Given the description of an element on the screen output the (x, y) to click on. 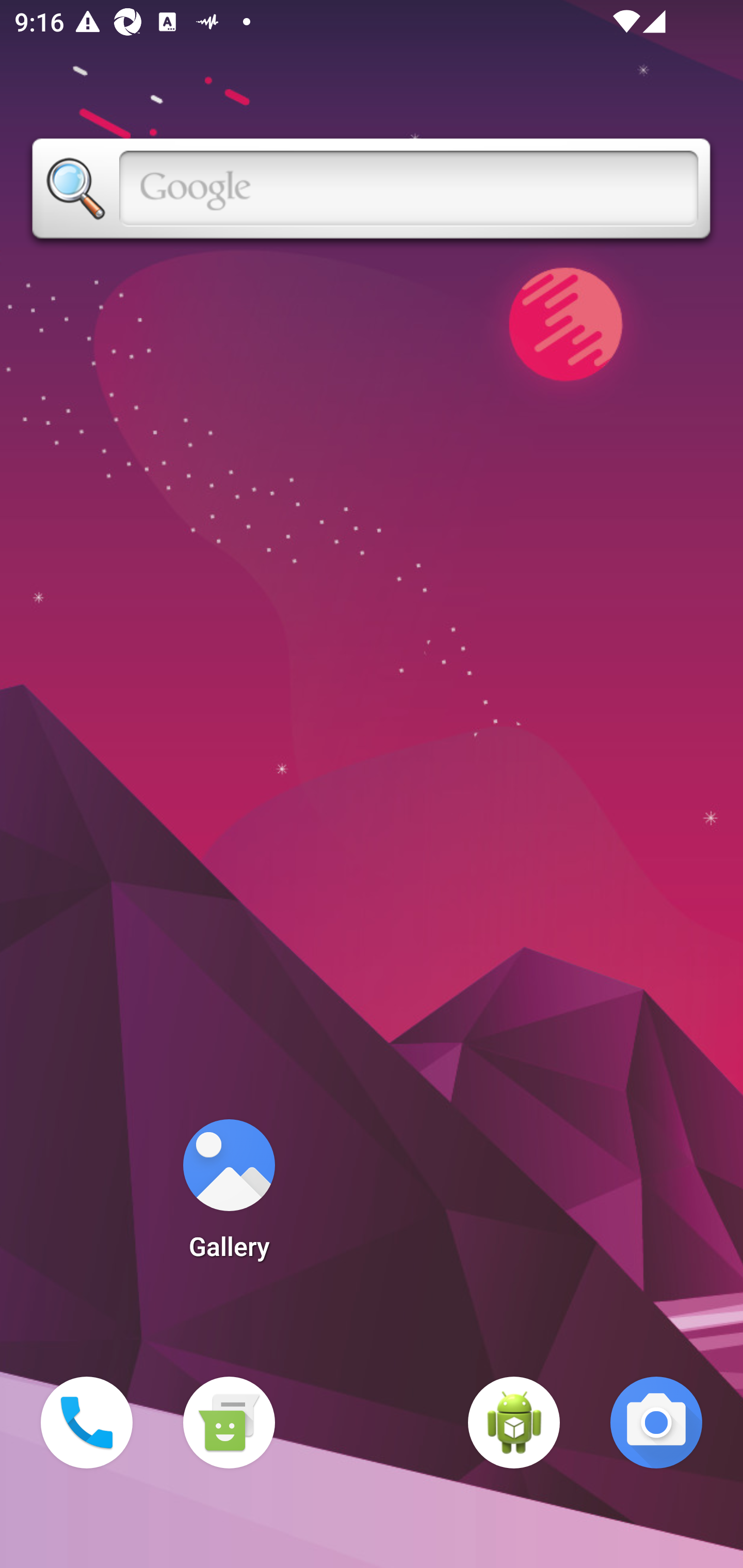
Gallery (228, 1195)
Phone (86, 1422)
Messaging (228, 1422)
WebView Browser Tester (513, 1422)
Camera (656, 1422)
